Given the description of an element on the screen output the (x, y) to click on. 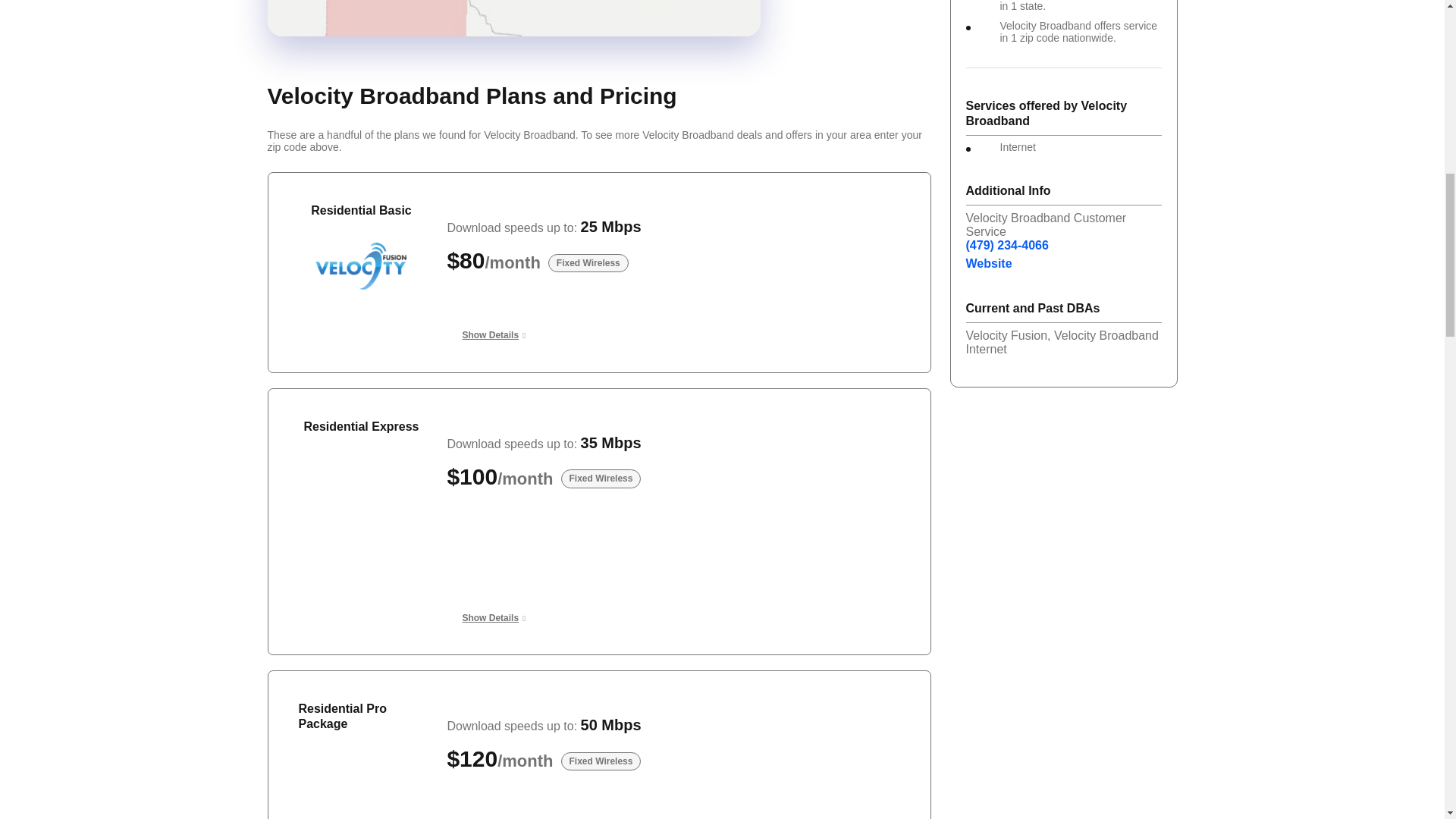
Velocity Broadband (360, 265)
Velocity Broadband Coverage Availability Map (454, 35)
Velocity Broadband (360, 787)
